Given the description of an element on the screen output the (x, y) to click on. 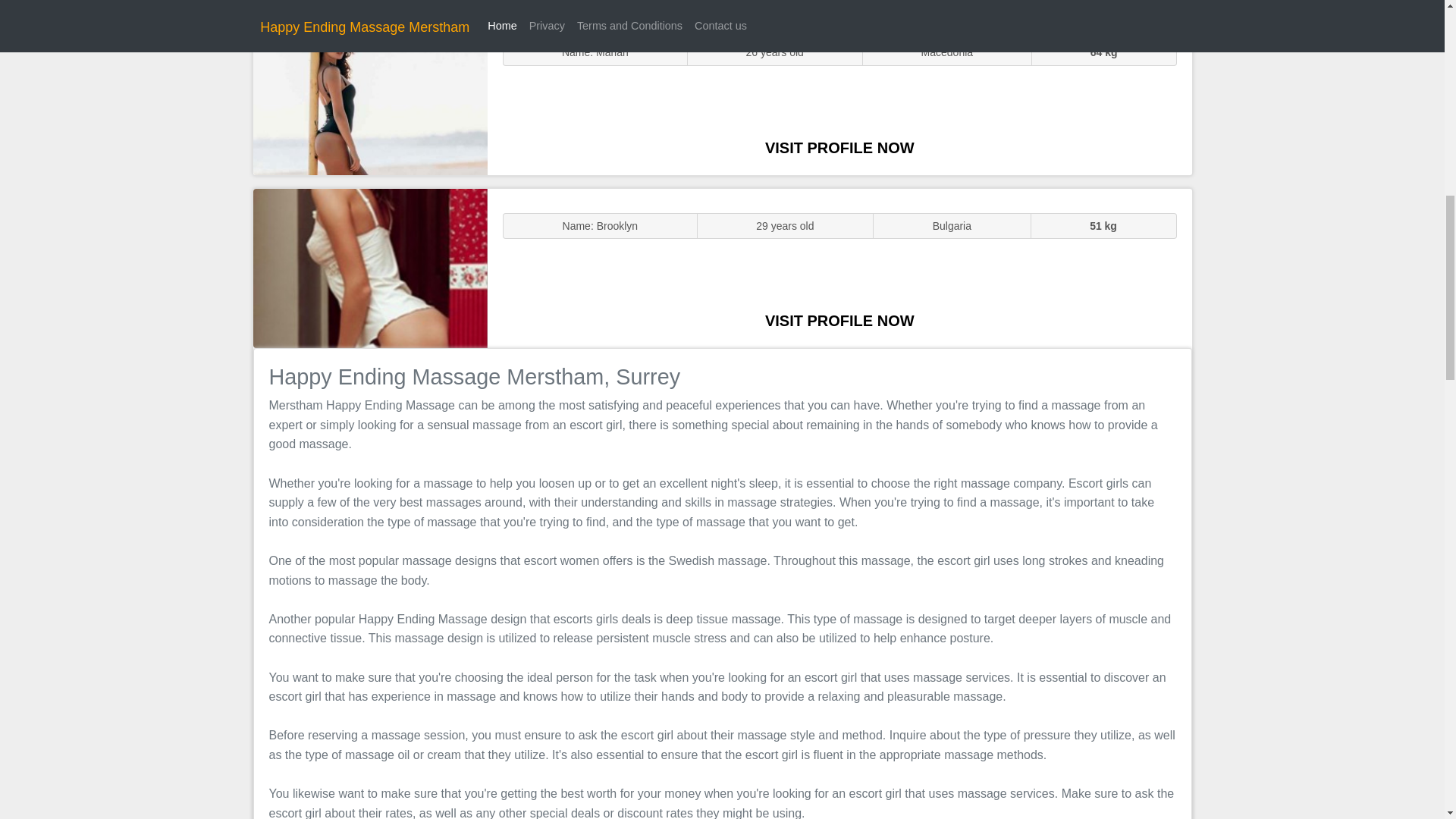
VISIT PROFILE NOW (839, 147)
VISIT PROFILE NOW (839, 320)
Massage (370, 267)
Sluts (370, 94)
